Given the description of an element on the screen output the (x, y) to click on. 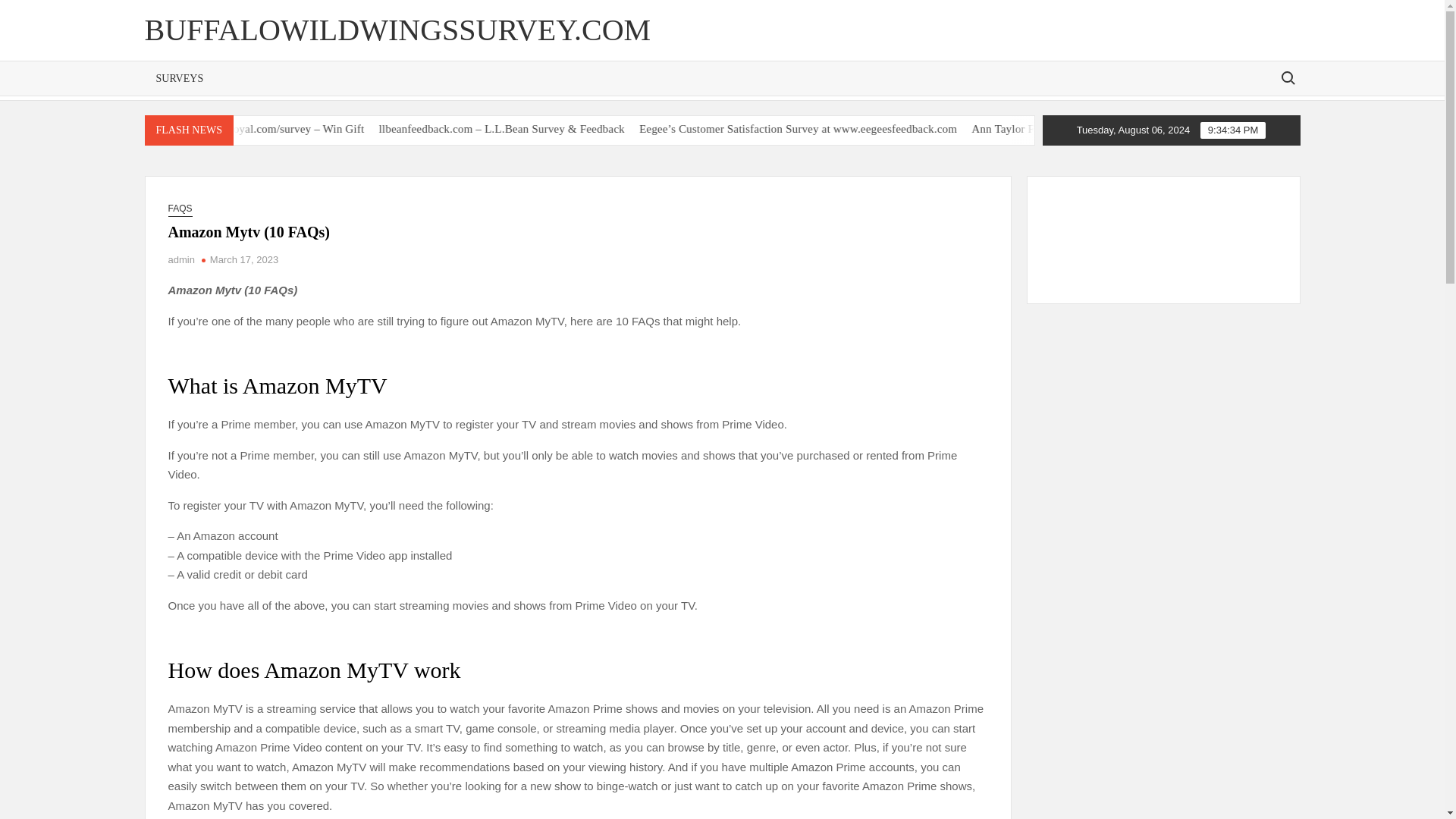
FAQS (180, 208)
SURVEYS (179, 78)
March 17, 2023 (243, 259)
admin (181, 259)
BUFFALOWILDWINGSSURVEY.COM (397, 29)
Search for: (1287, 77)
